Given the description of an element on the screen output the (x, y) to click on. 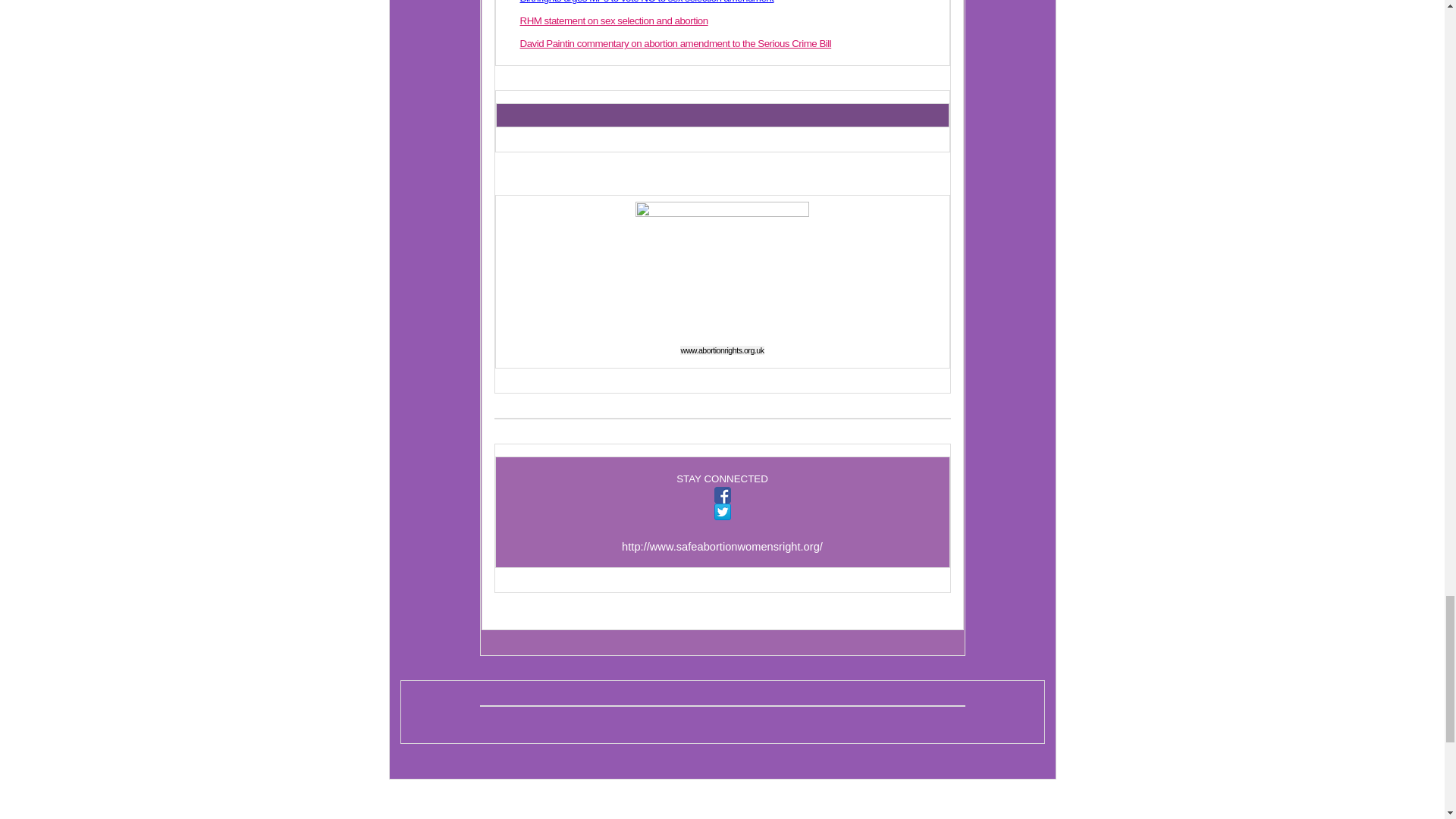
Follow us on Twitter (722, 511)
